Given the description of an element on the screen output the (x, y) to click on. 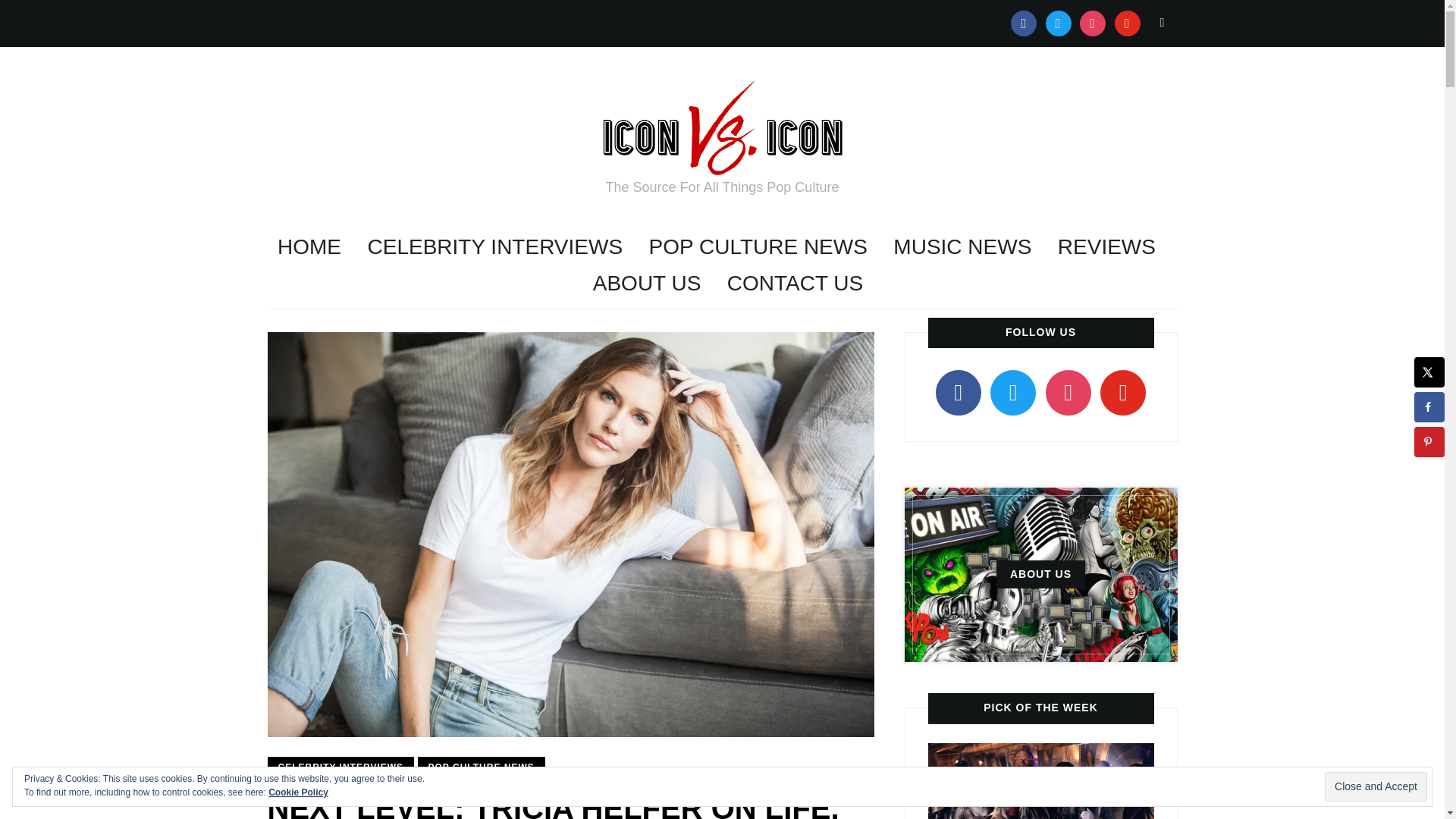
Contact Icon Vs. Icon (794, 283)
CELEBRITY INTERVIEWS (494, 247)
ABOUT US (646, 283)
Instagram (1092, 22)
Search (1161, 22)
TWITTER (1058, 22)
Default Label (1127, 22)
POP CULTURE NEWS (480, 767)
Close and Accept (1375, 786)
POP CULTURE NEWS (758, 247)
Twitter (1058, 22)
CONTACT US (794, 283)
YOUTUBE (1127, 22)
MUSIC NEWS (961, 247)
Facebook (1023, 22)
